Given the description of an element on the screen output the (x, y) to click on. 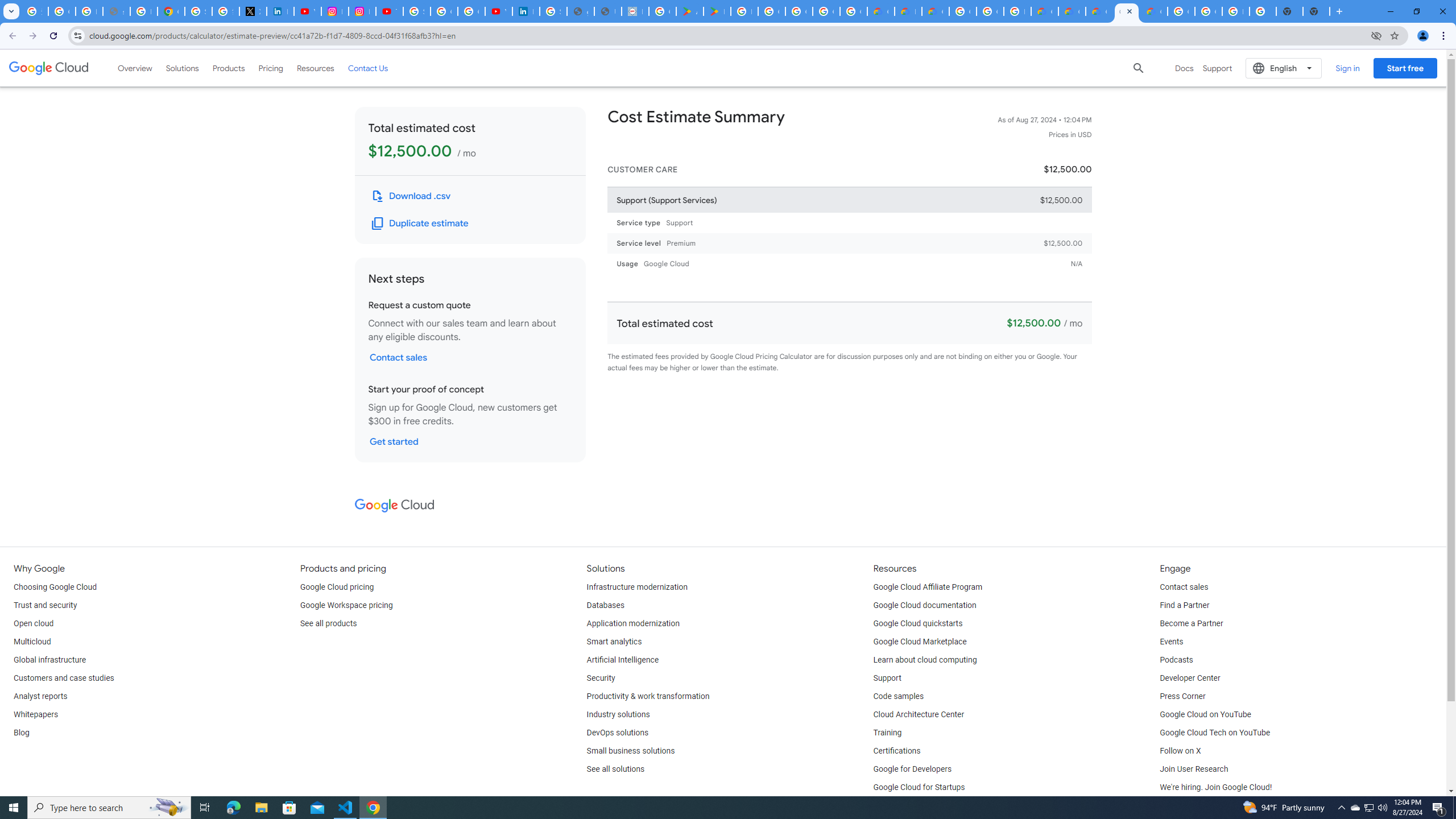
See all products (327, 624)
google_privacy_policy_en.pdf (580, 11)
Choosing Google Cloud (55, 587)
Google Workspace pricing (346, 605)
Small business solutions (630, 751)
Productivity & work transformation (648, 696)
Customer Care | Google Cloud (880, 11)
Sign in - Google Accounts (416, 11)
Analyst reports (39, 696)
Google Cloud Estimate Summary (1126, 11)
Industry solutions (617, 714)
